Given the description of an element on the screen output the (x, y) to click on. 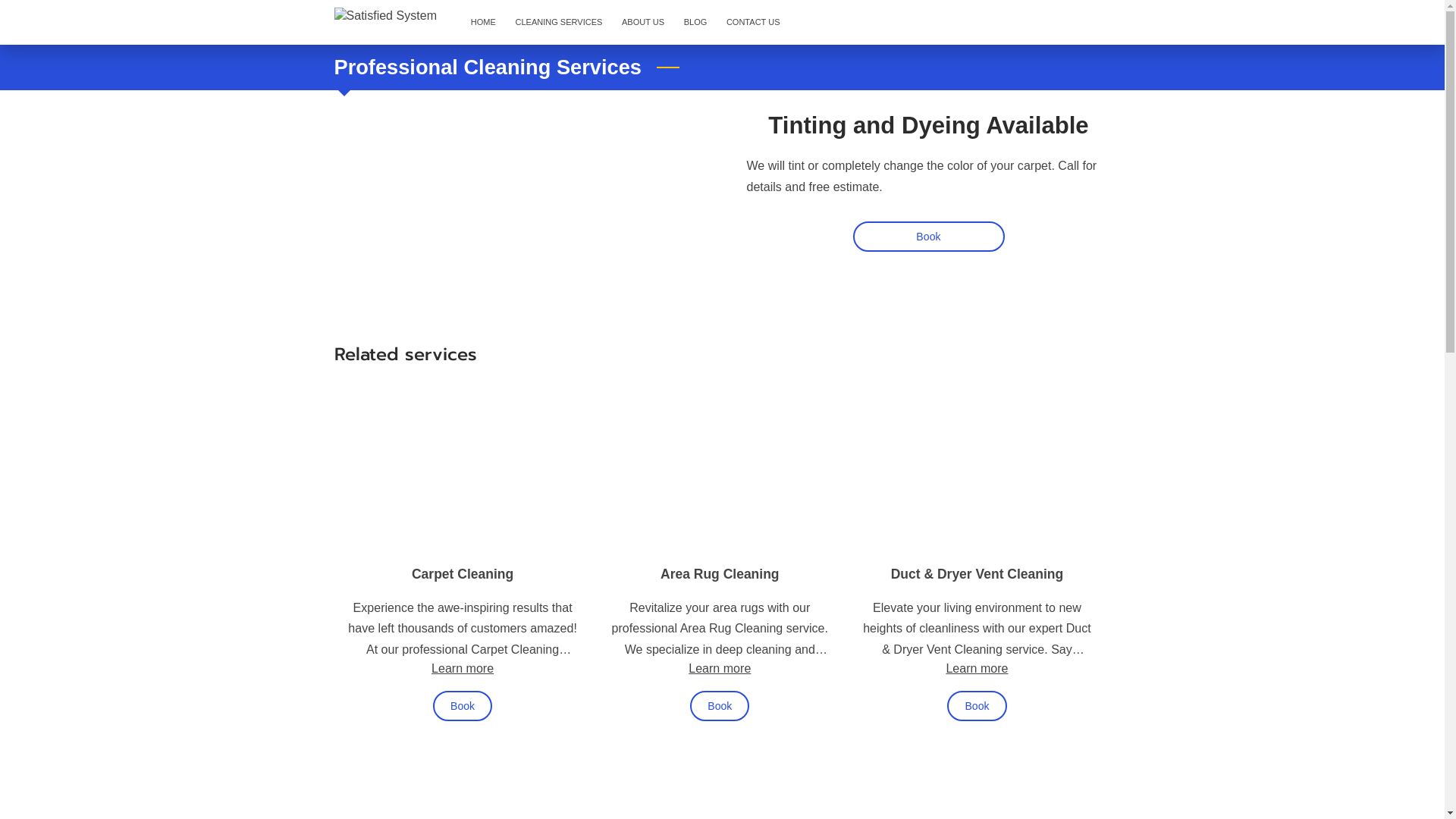
BLOG Element type: text (695, 22)
Book Element type: text (928, 236)
HOME Element type: text (483, 22)
Area Rug Cleaning Element type: text (719, 573)
Book Element type: text (462, 705)
Carpet Cleaning Element type: text (462, 573)
Learn more Element type: text (719, 667)
CLEANING SERVICES Element type: text (558, 22)
CONTACT US Element type: text (752, 22)
Learn more Element type: text (976, 667)
Learn more Element type: text (462, 667)
Duct & Dryer Vent Cleaning Element type: text (977, 573)
Book Element type: text (719, 705)
ABOUT US Element type: text (642, 22)
Book Element type: text (976, 705)
